Given the description of an element on the screen output the (x, y) to click on. 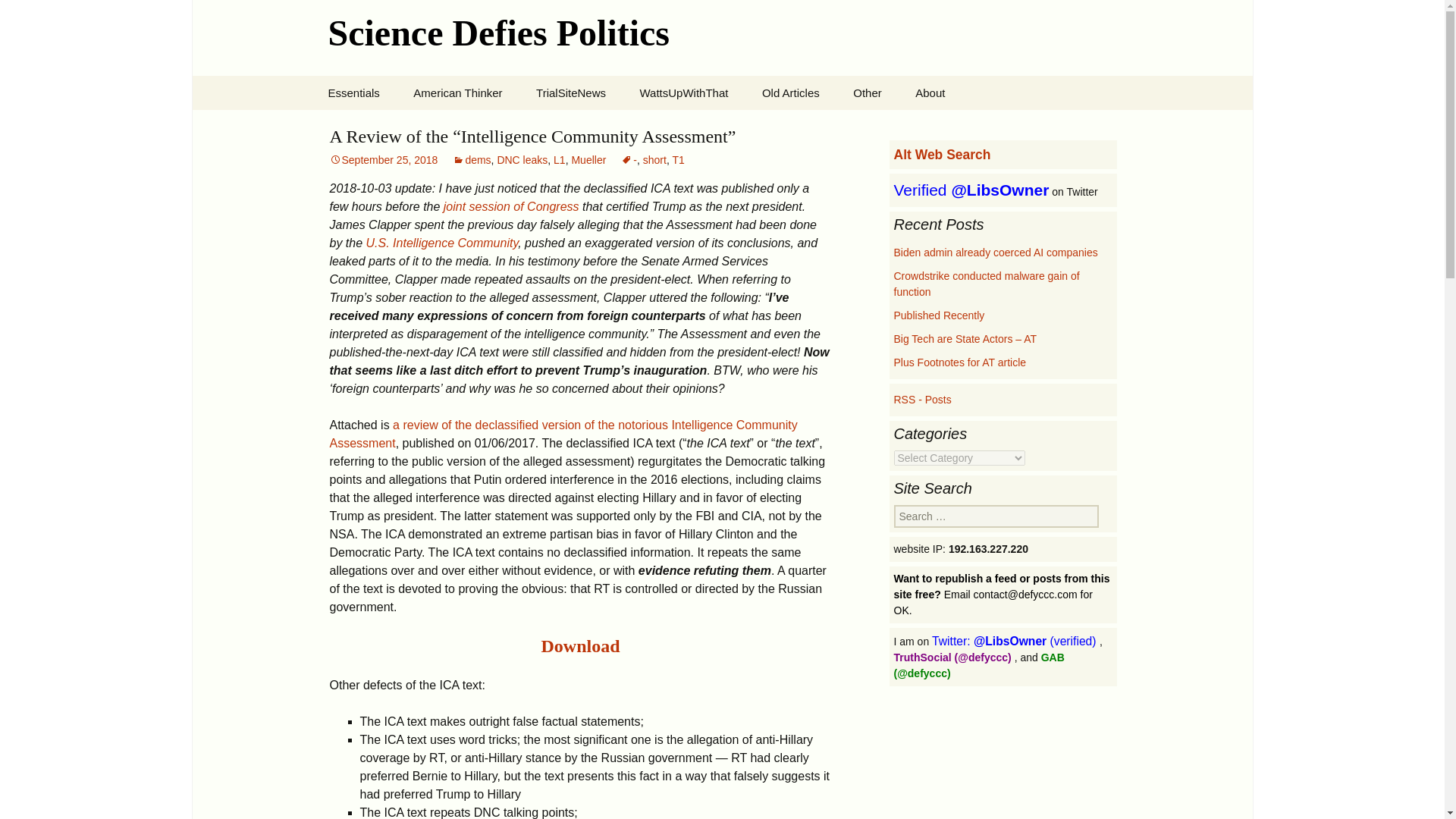
Science Defies Politics (722, 38)
Subscribe to posts (921, 399)
The Hydroxychloroquine Access Denial (473, 138)
Essentials (353, 92)
American Thinker (456, 92)
Science Defies Politics (722, 38)
Home (388, 126)
